Given the description of an element on the screen output the (x, y) to click on. 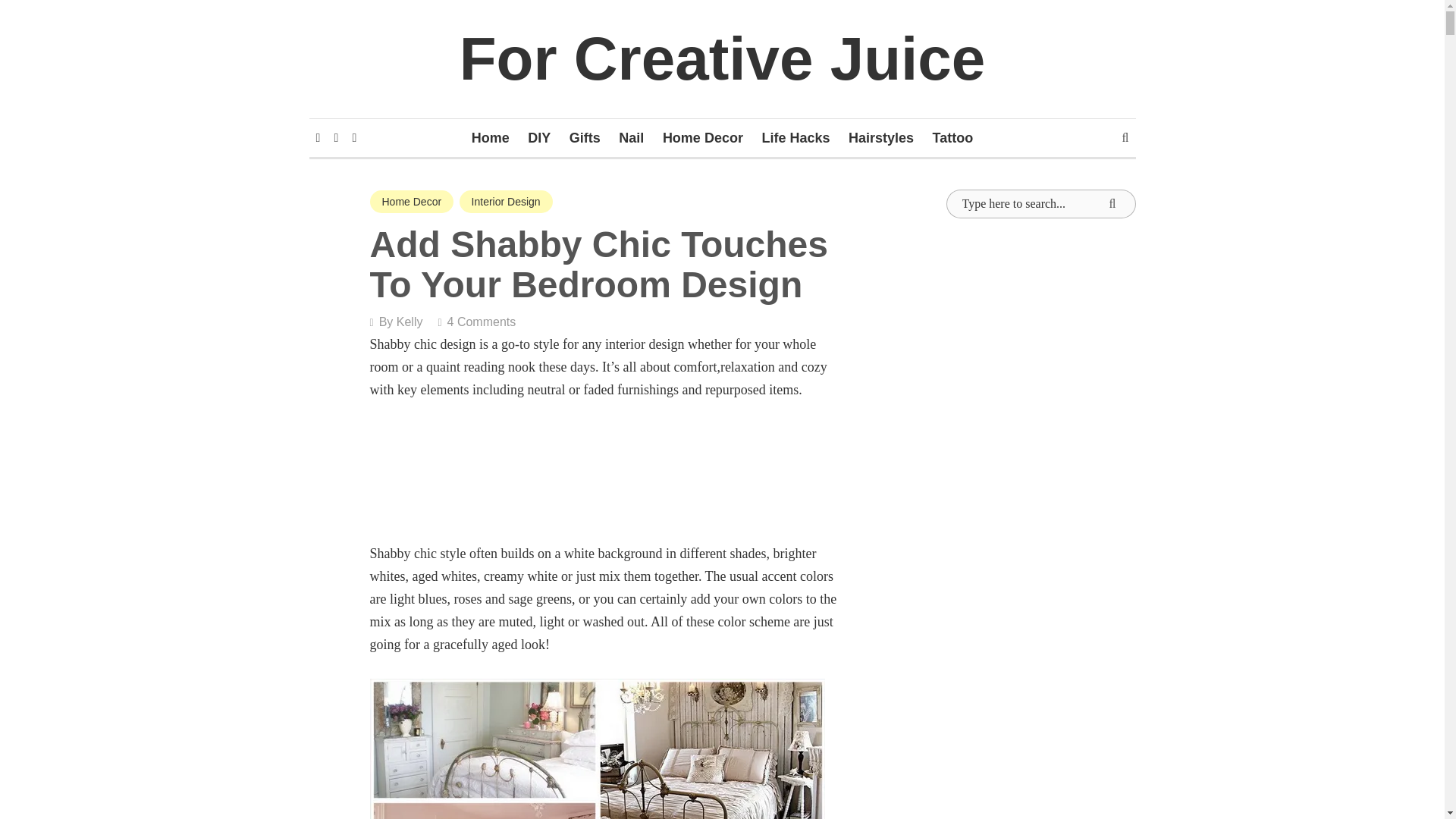
Tattoo (952, 137)
Nail (630, 137)
Type here to search... (1040, 203)
DIY (538, 137)
Life Hacks (795, 137)
Hairstyles (881, 137)
Interior Design (506, 201)
For Creative Juice (722, 58)
Advertisement (1040, 776)
Kelly (409, 321)
